Given the description of an element on the screen output the (x, y) to click on. 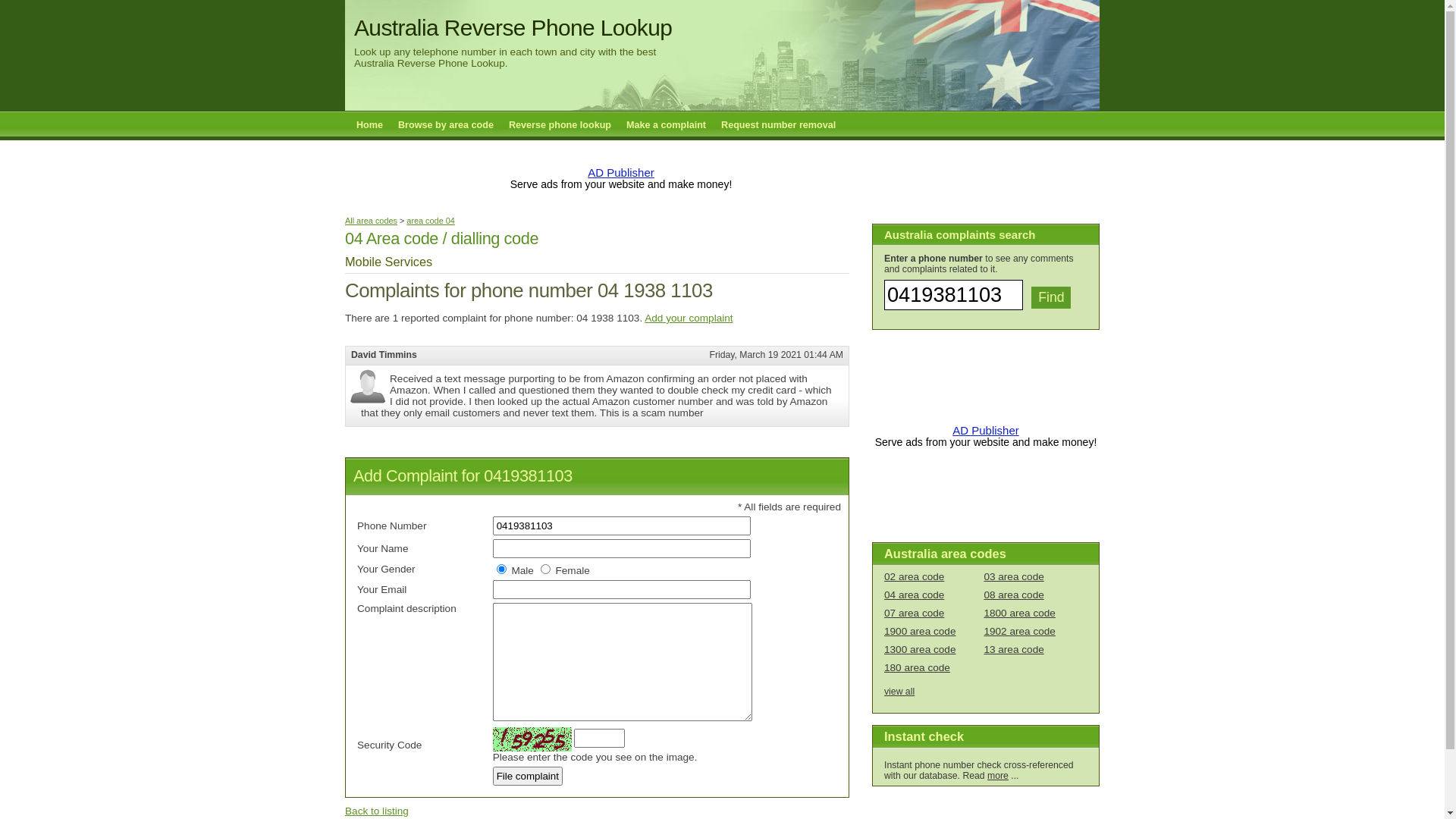
Find Element type: text (1050, 296)
Australia area codes Element type: text (945, 553)
1300 area code Element type: text (919, 649)
view all Element type: text (899, 691)
Browse by area code Element type: text (445, 124)
03 area code Element type: text (1013, 576)
Home Element type: text (369, 124)
07 area code Element type: text (914, 612)
Back to listing Element type: text (376, 810)
1900 area code Element type: text (919, 631)
Australia Reverse Phone Lookup Element type: text (512, 27)
1800 area code Element type: text (1018, 612)
180 area code Element type: text (917, 667)
All area codes Element type: text (371, 220)
Reverse phone lookup Element type: text (559, 124)
Add your complaint Element type: text (688, 317)
13 area code Element type: text (1013, 649)
Instant check Element type: text (923, 736)
04 area code Element type: text (914, 594)
more Element type: text (997, 775)
area code 04 Element type: text (430, 220)
Request number removal Element type: text (778, 124)
1902 area code Element type: text (1018, 631)
Make a complaint Element type: text (665, 124)
02 area code Element type: text (914, 576)
08 area code Element type: text (1013, 594)
